Given the description of an element on the screen output the (x, y) to click on. 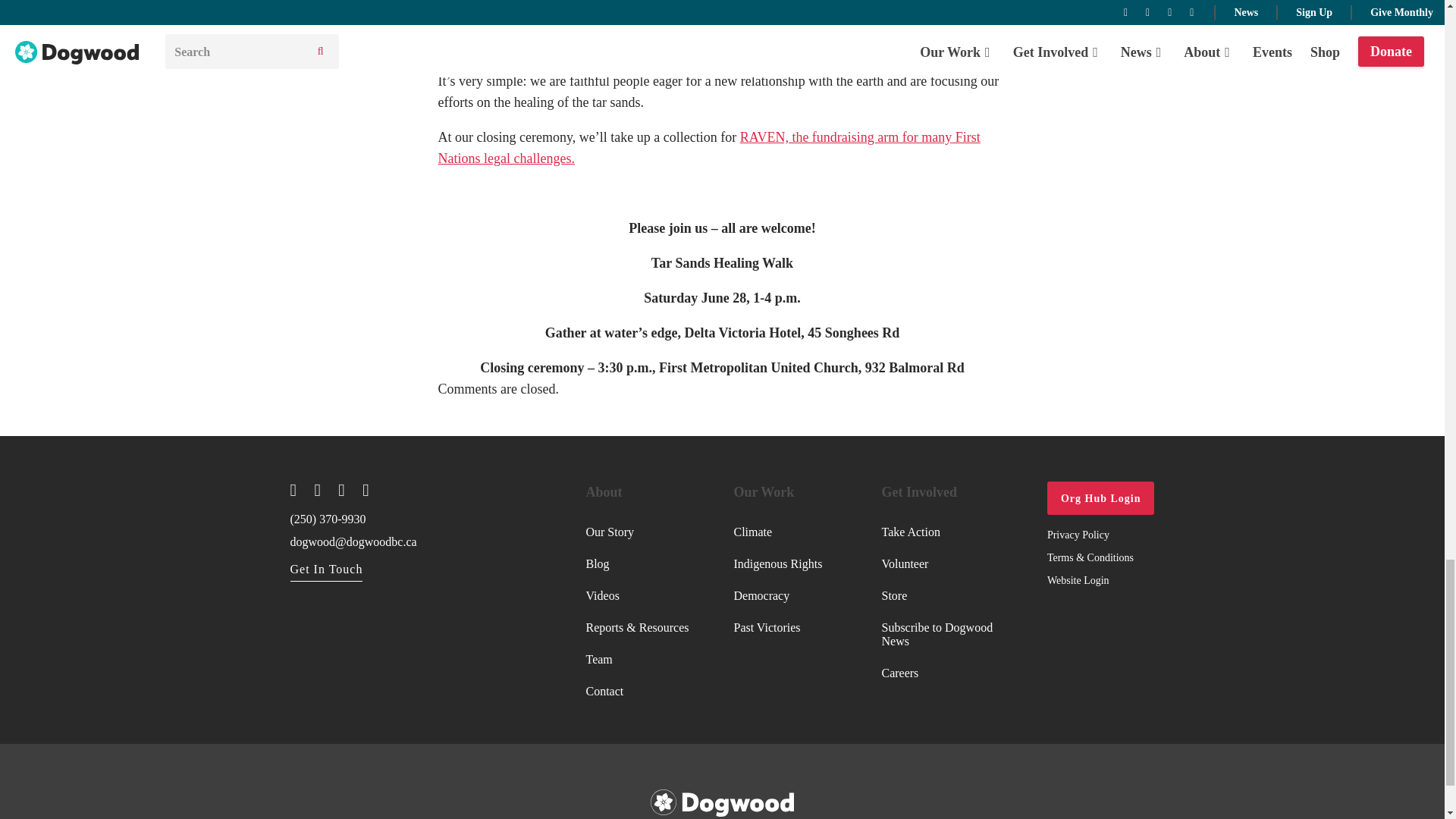
Past Victories (777, 627)
Indigenous Rights (777, 563)
Videos (636, 595)
Democracy (777, 595)
Climate (777, 531)
Contact (636, 691)
Blog (636, 563)
Our Story (636, 531)
Volunteer (943, 563)
Team (636, 659)
Take Action (943, 531)
